Given the description of an element on the screen output the (x, y) to click on. 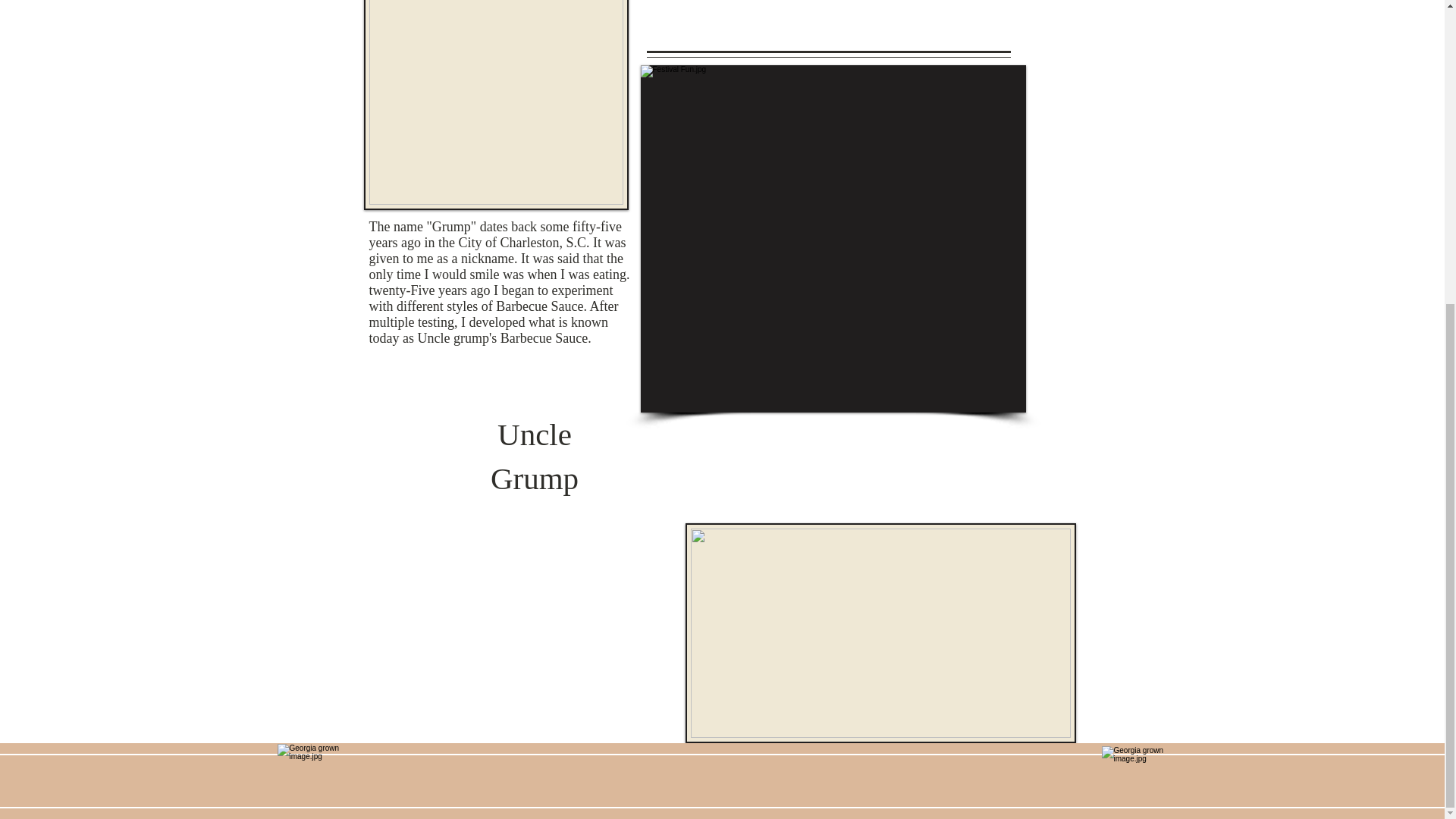
Unclegrump Me Pic.jpg (496, 104)
External YouTube (504, 631)
